Given the description of an element on the screen output the (x, y) to click on. 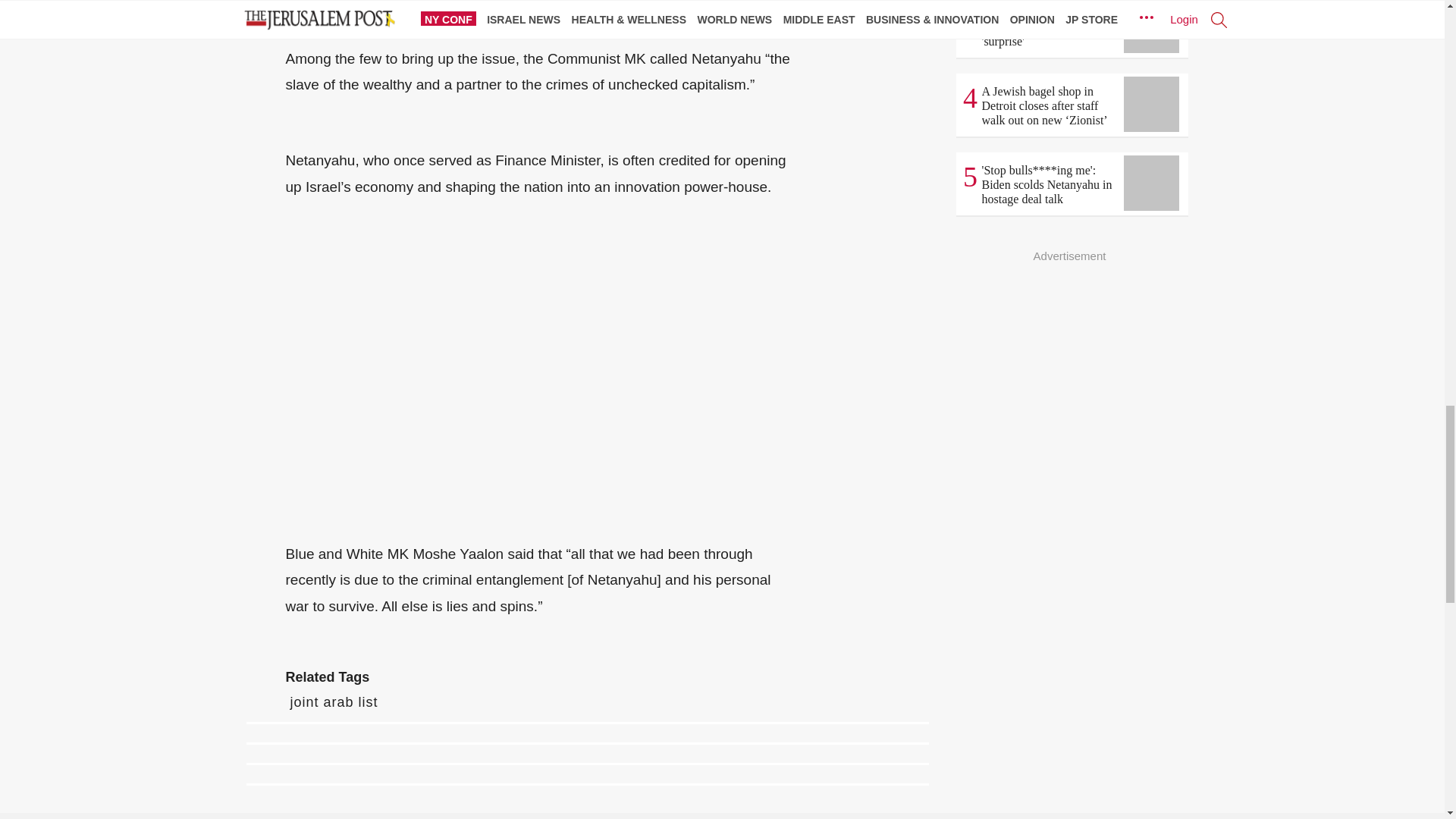
joint arab list (333, 702)
joint arab list (333, 702)
